Given the description of an element on the screen output the (x, y) to click on. 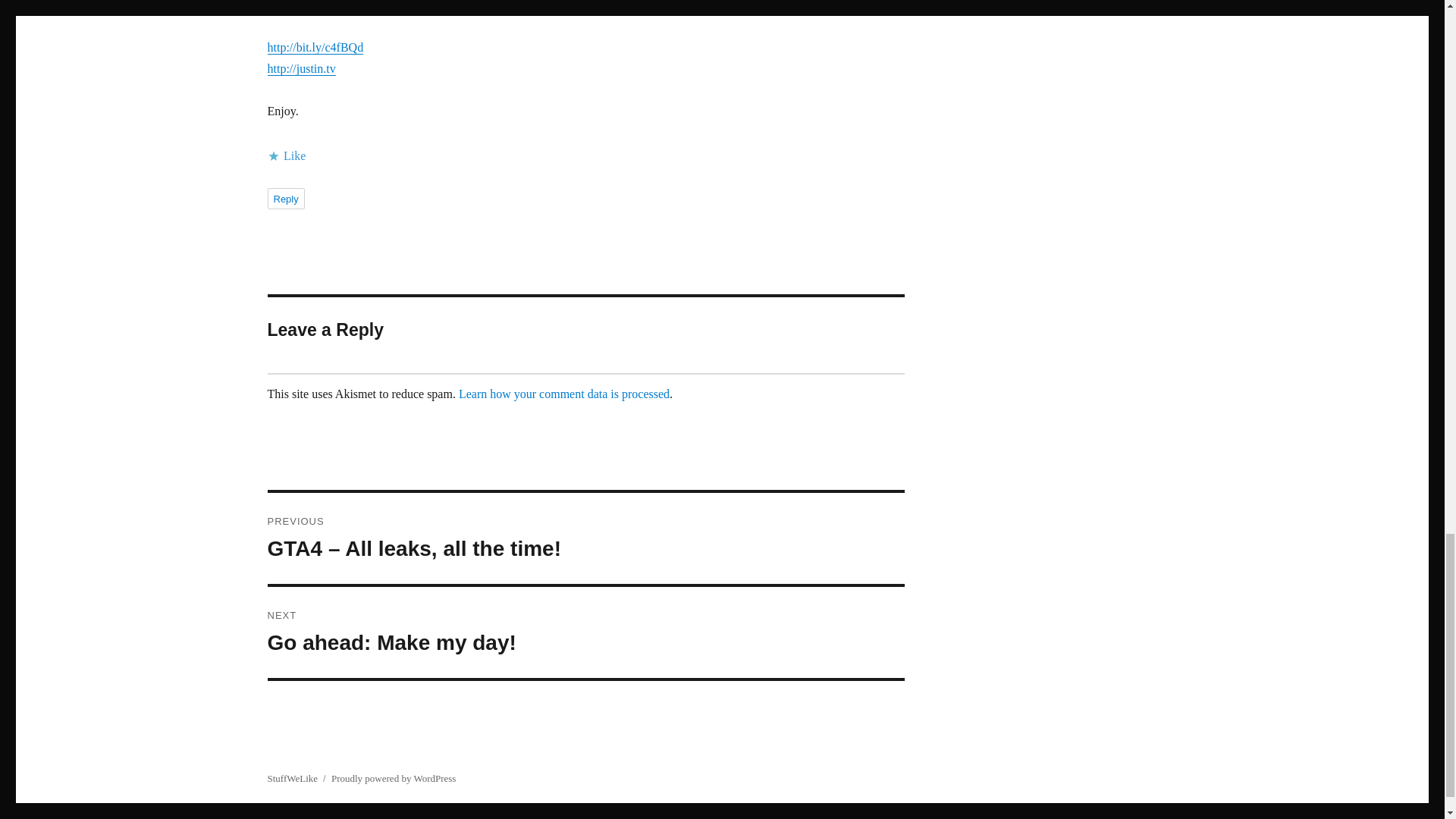
Learn how your comment data is processed (563, 393)
Comment Form (585, 632)
